Given the description of an element on the screen output the (x, y) to click on. 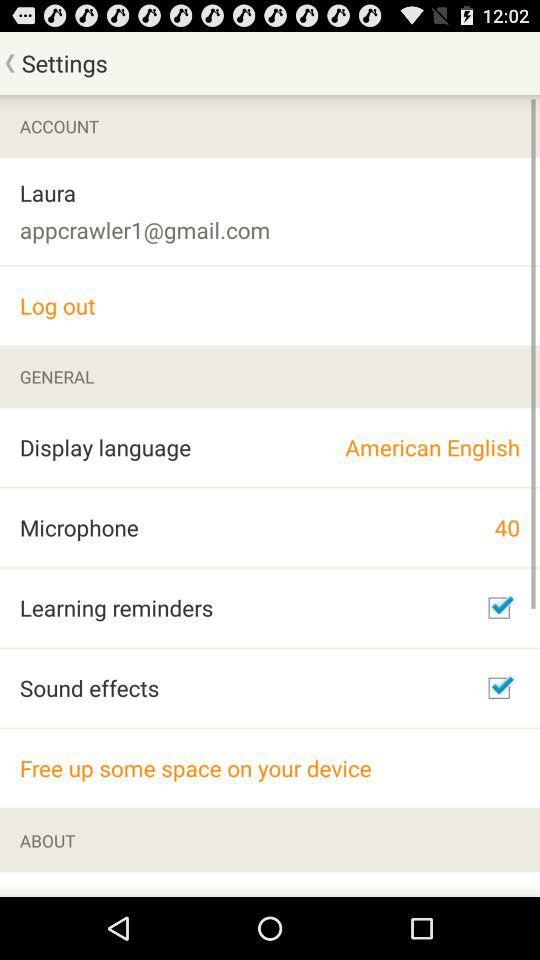
open the 5 6 2 app (109, 884)
